Given the description of an element on the screen output the (x, y) to click on. 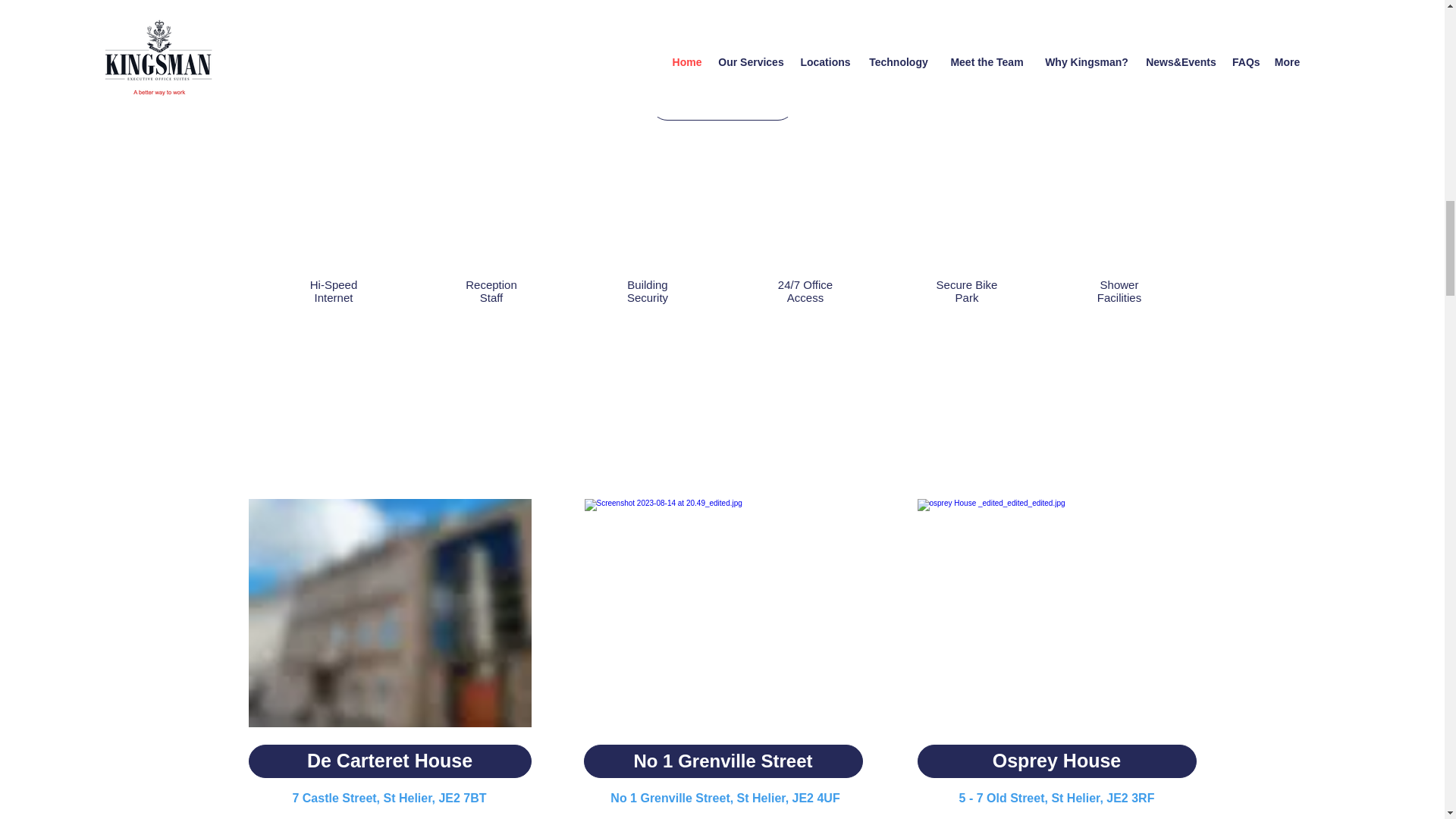
Osprey House (1056, 761)
See all Services (722, 103)
No 1 Grenville Street (723, 761)
Private Offices (391, 2)
CoWorking (1055, 2)
Meeting Rooms (721, 2)
De Carteret House (389, 761)
